Given the description of an element on the screen output the (x, y) to click on. 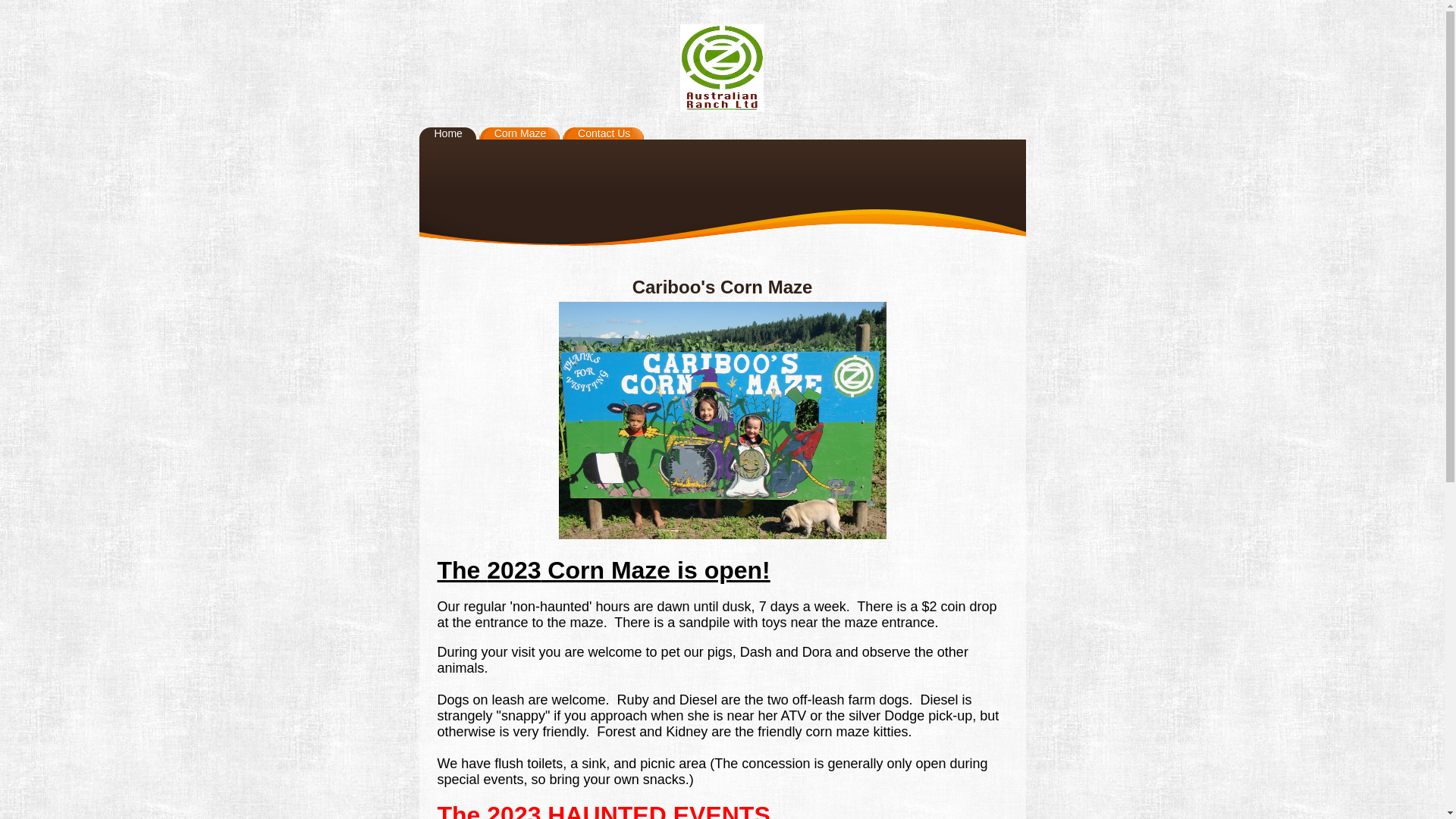
Contact Us Element type: text (610, 133)
Corn Maze Element type: text (526, 133)
Home Element type: text (454, 133)
Entrance Sign Element type: hover (721, 420)
